Given the description of an element on the screen output the (x, y) to click on. 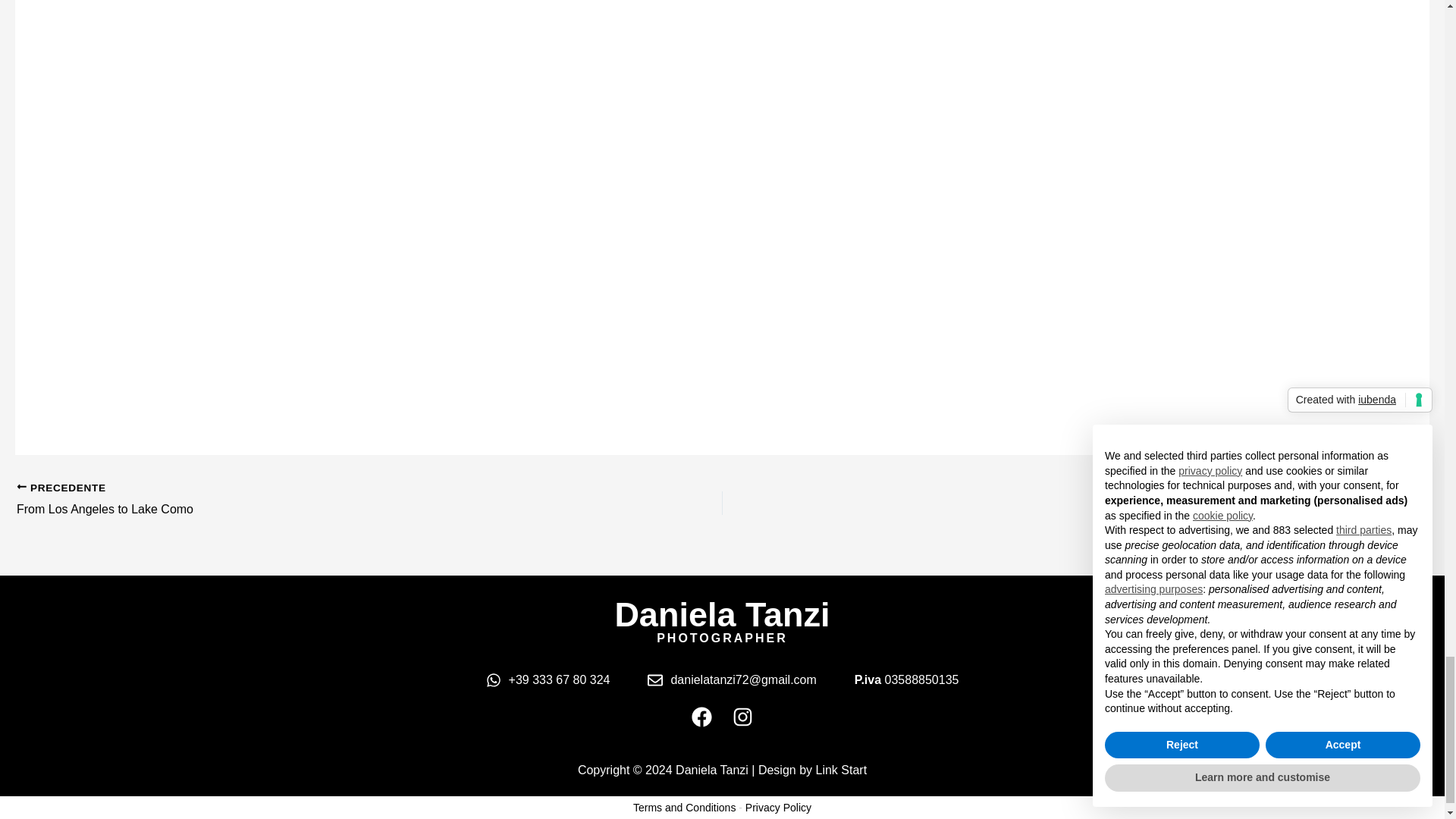
From Los Angeles to Lake Como (299, 500)
Wedding on the beach from Moldavia to Italian Riviera (1144, 500)
